Given the description of an element on the screen output the (x, y) to click on. 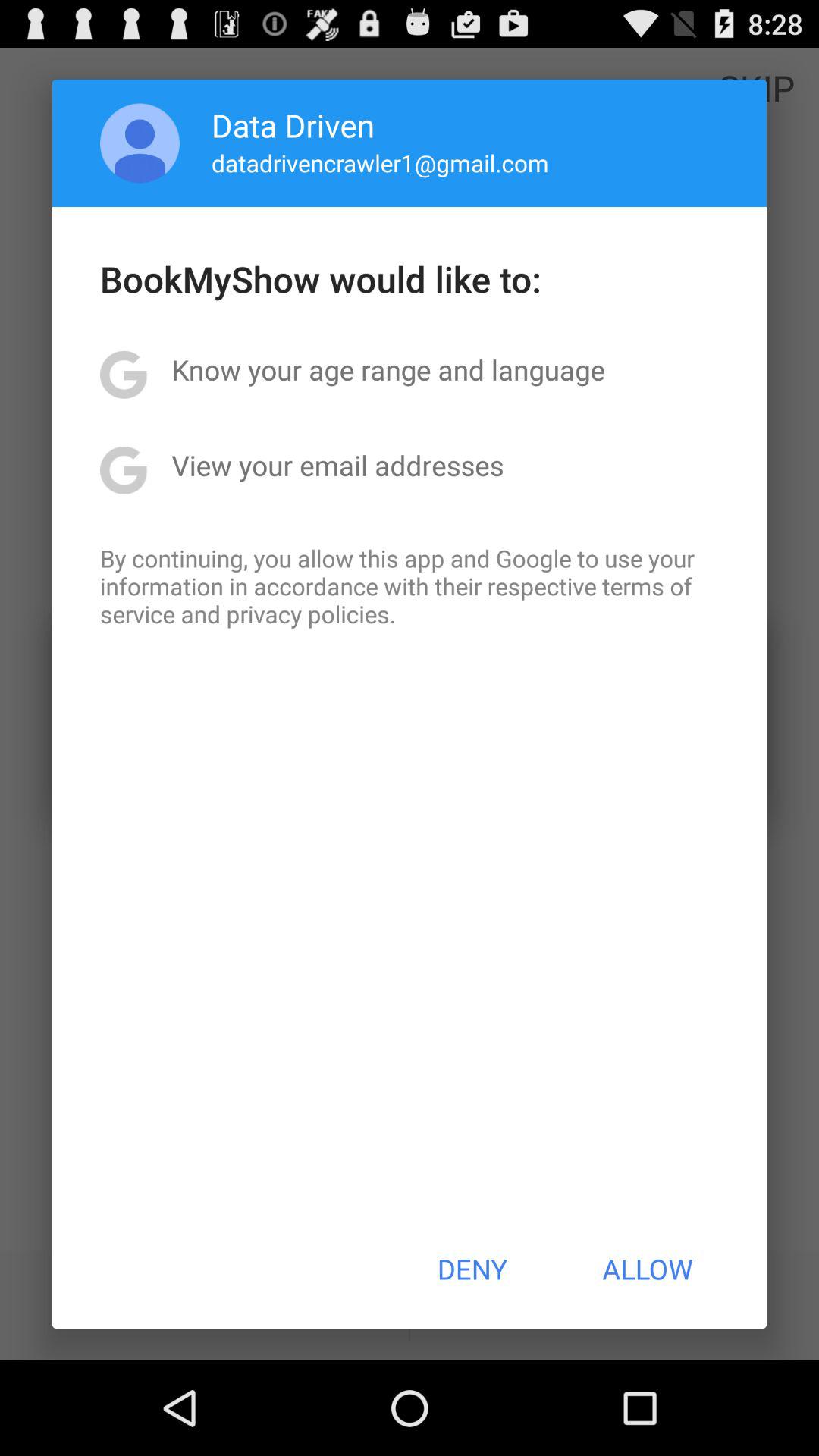
tap data driven app (292, 124)
